Given the description of an element on the screen output the (x, y) to click on. 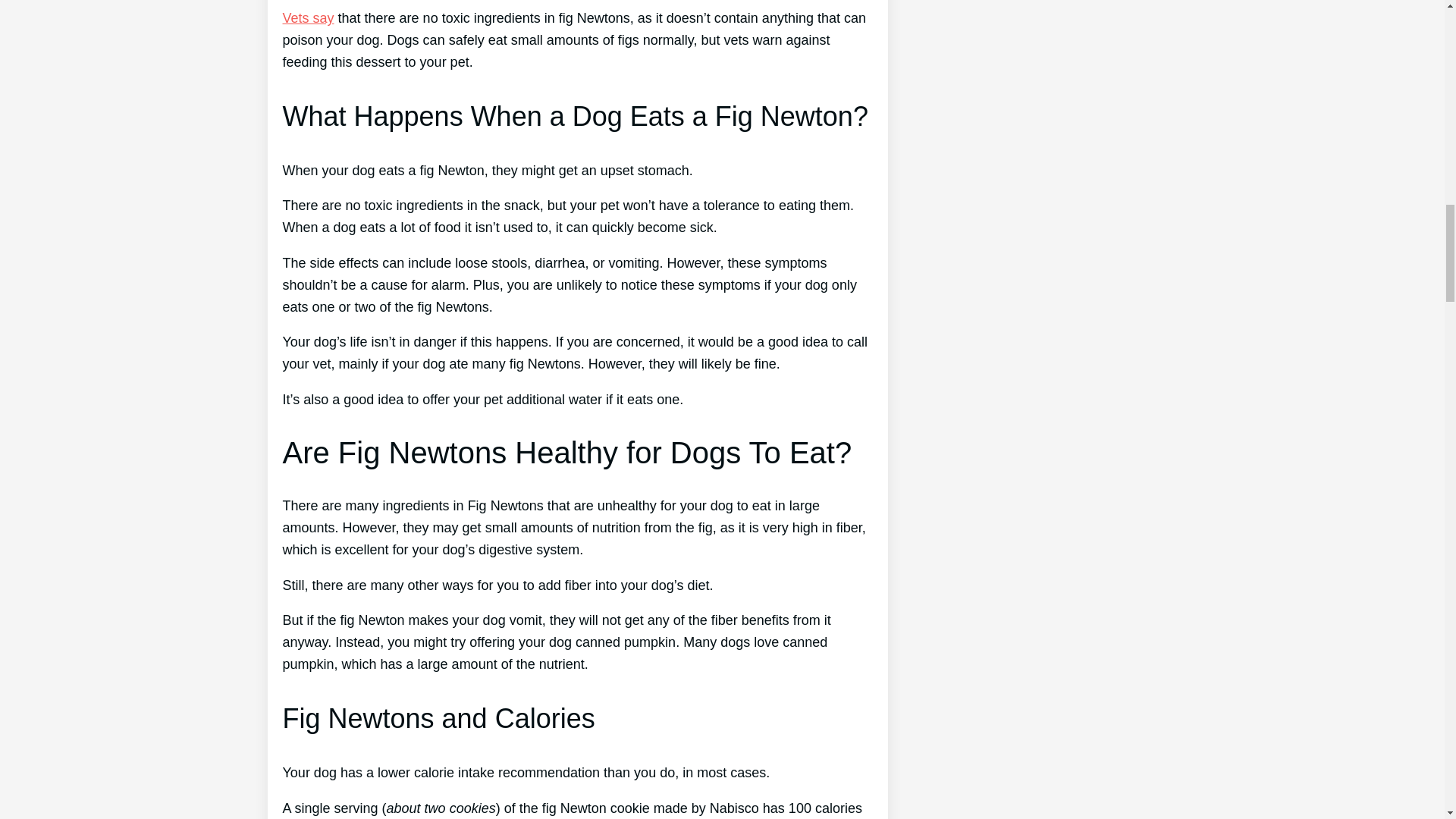
Vets say (307, 17)
